Given the description of an element on the screen output the (x, y) to click on. 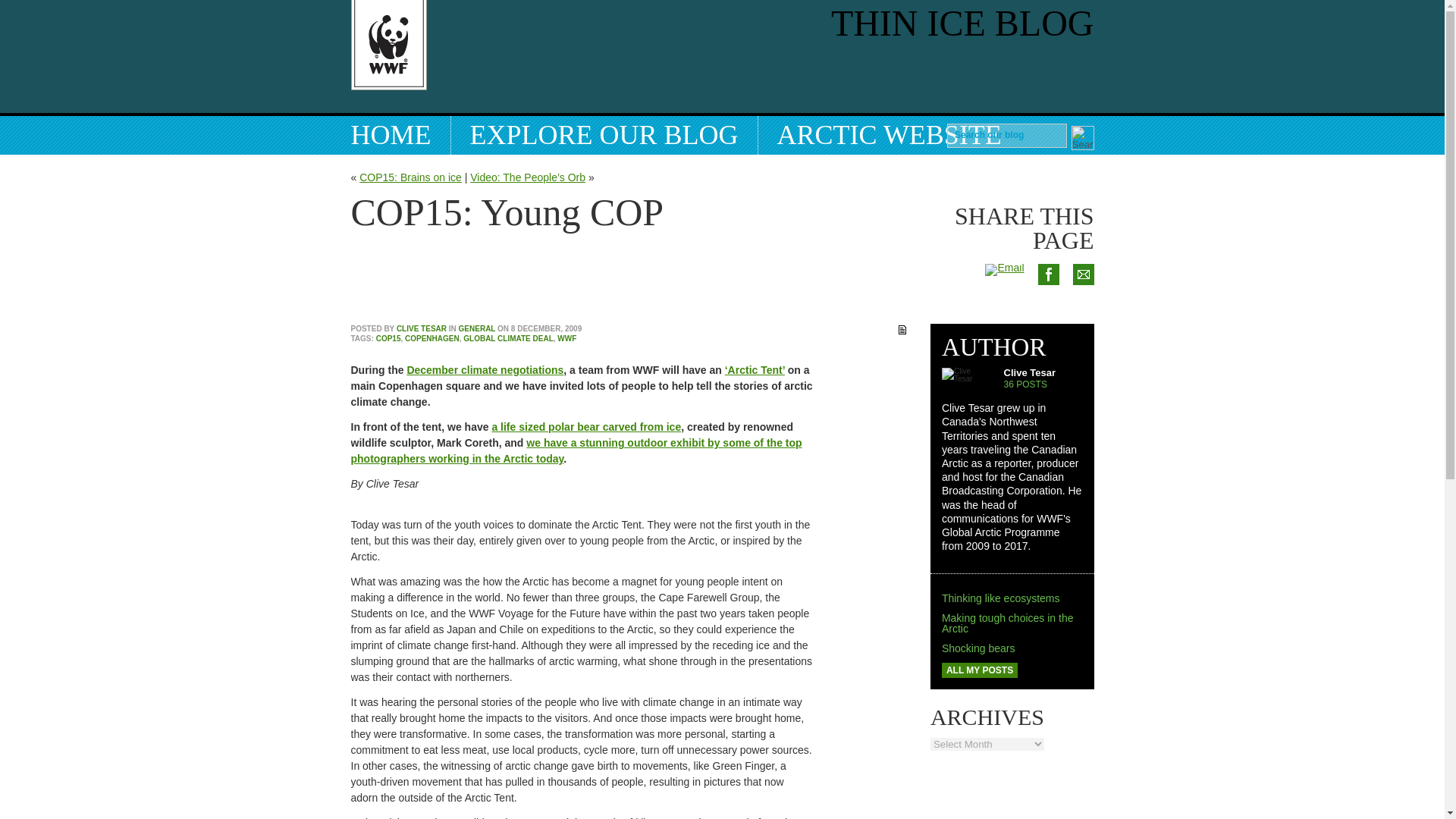
Link to Arctic Website (889, 135)
Thinking like ecosystems (1000, 598)
EXPLORE OUR BLOG (603, 135)
ALL MY POSTS (979, 670)
COP15: Brains on ice (410, 177)
Click to share this page via email (1082, 334)
a life sized polar bear carved from ice (586, 426)
COPENHAGEN (432, 338)
Click to share this page via Facebook (1047, 334)
Link to view blogs (603, 135)
Making tough choices in the Arctic (1008, 622)
ARCTIC WEBSITE (889, 135)
Click to share this page via Twitter (1004, 267)
Link to Thinking like ecosystems (1000, 598)
